Given the description of an element on the screen output the (x, y) to click on. 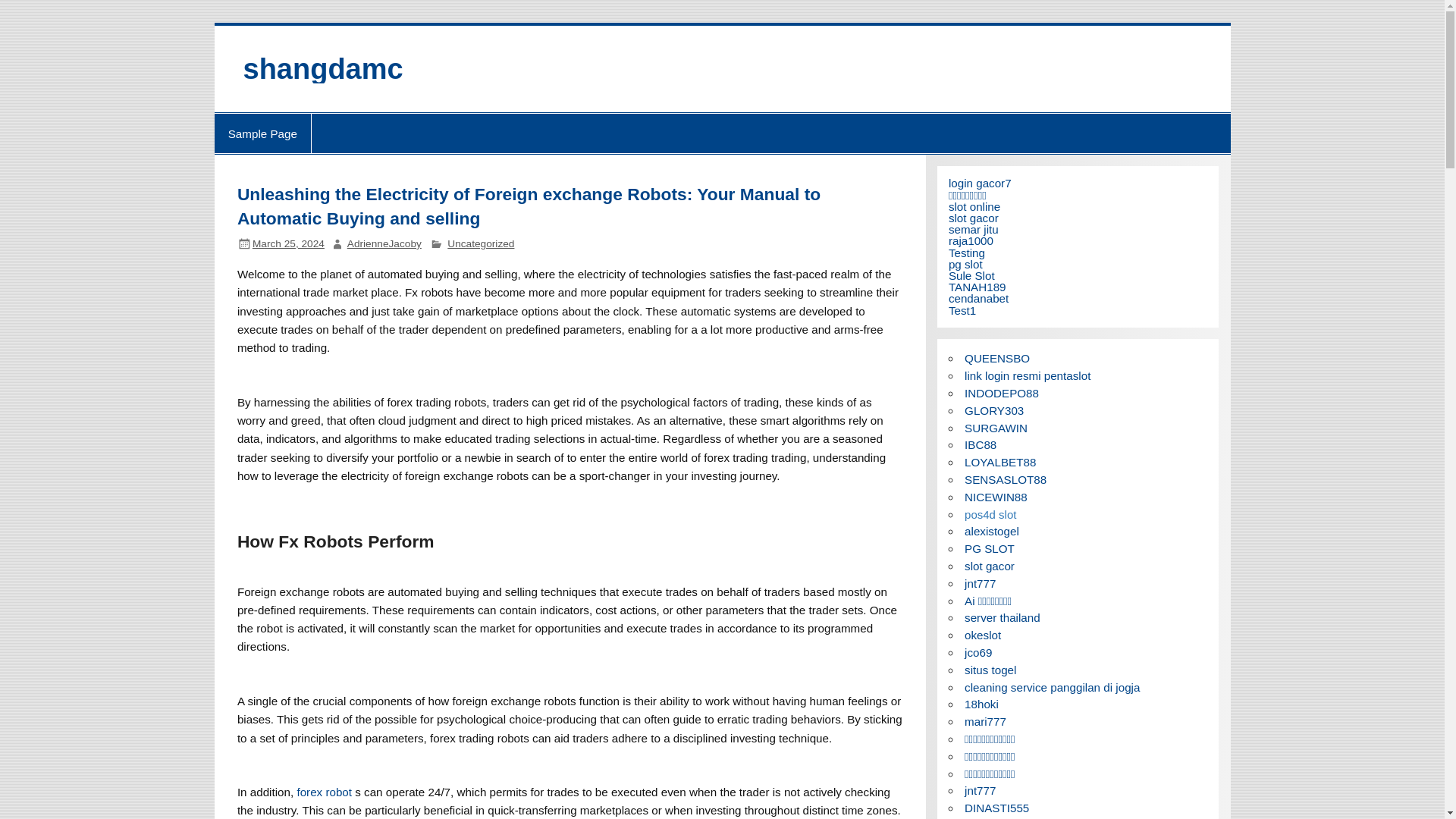
raja1000 (970, 240)
LOYALBET88 (999, 461)
semar jitu (973, 228)
IBC88 (979, 444)
Uncategorized (479, 243)
Test1 (962, 309)
okeslot (982, 634)
jnt777 (979, 583)
pos4d slot (989, 513)
